Given the description of an element on the screen output the (x, y) to click on. 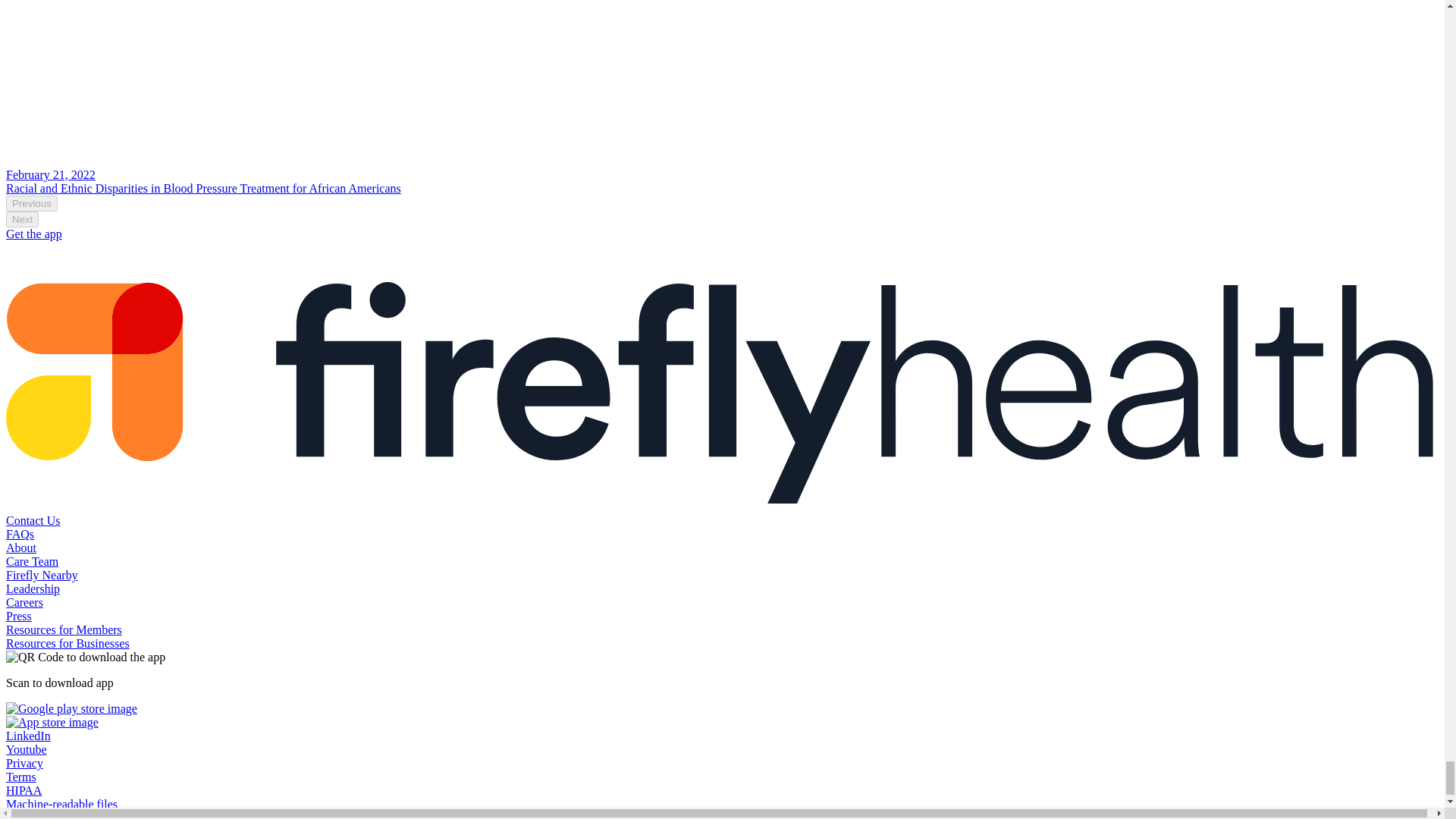
Careers (24, 602)
Get the app (33, 233)
Next (22, 219)
FAQs (19, 533)
About (20, 547)
Firefly Nearby (41, 574)
Care Team (31, 561)
Leadership (32, 588)
Contact Us (33, 520)
Press (18, 615)
Previous (31, 203)
